Given the description of an element on the screen output the (x, y) to click on. 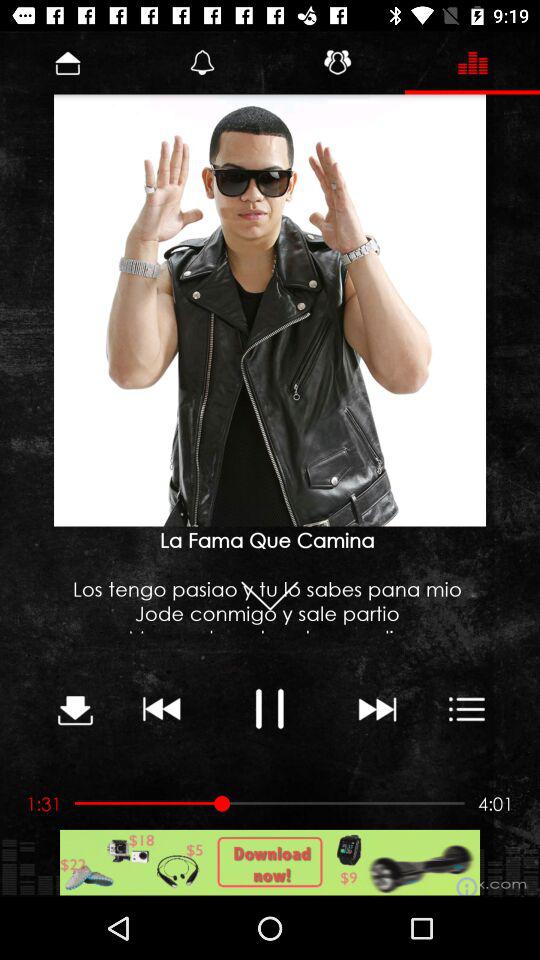
click on the image (270, 311)
click on the button next to download button which is at bottom of the page (162, 708)
click on the bell icon (202, 62)
click on download button (74, 708)
click on the icon next to bell icon (337, 62)
click on fourth icon at the top from left side (472, 62)
click on the button which is next to the next button (467, 708)
